Given the description of an element on the screen output the (x, y) to click on. 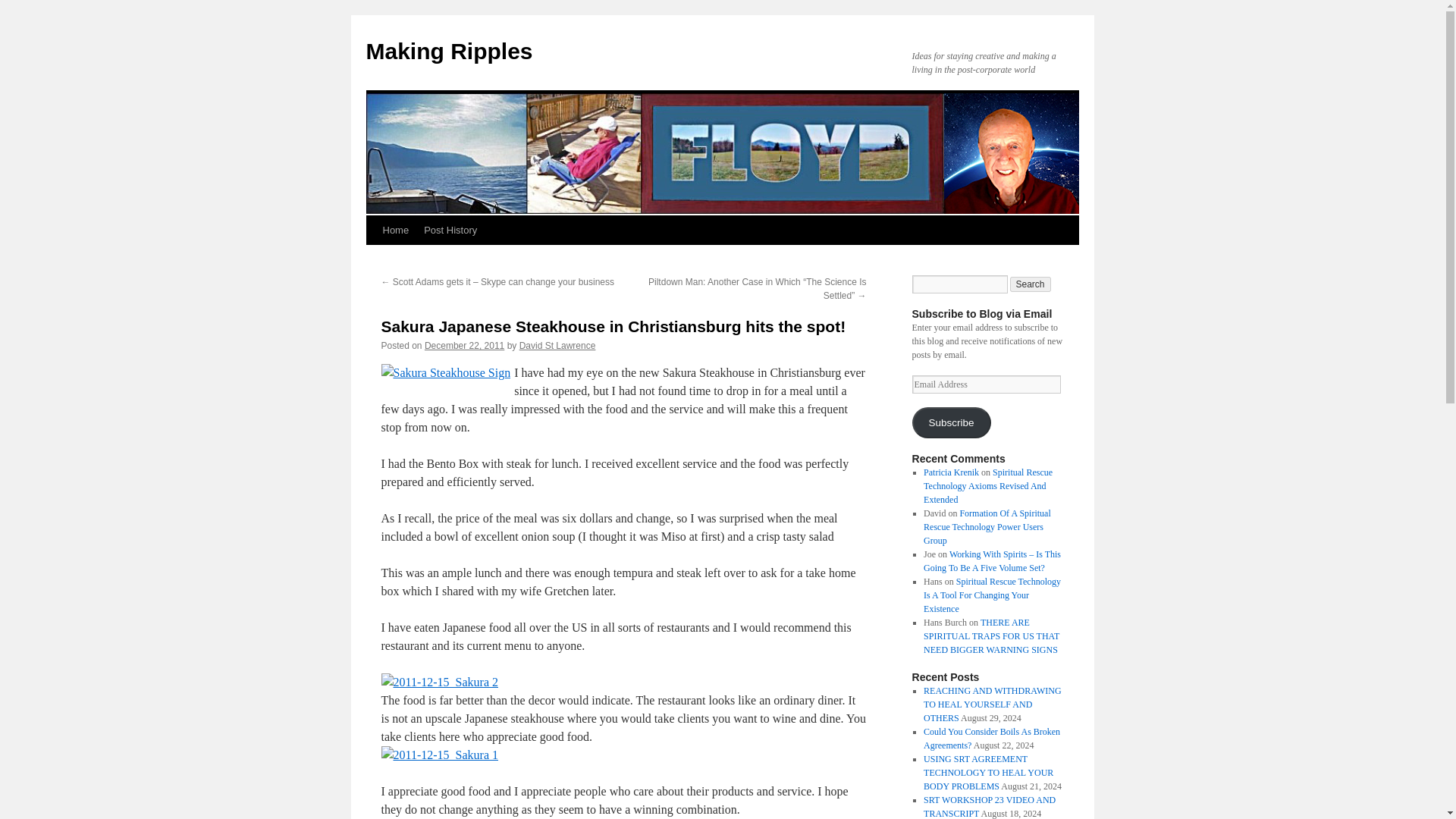
Subscribe (950, 422)
Spiritual Rescue Technology Axioms Revised And Extended (987, 485)
Search (1030, 283)
Making Ripples (448, 50)
Could You Consider Boils As Broken Agreements? (991, 738)
USING SRT AGREEMENT TECHNOLOGY TO HEAL YOUR BODY PROBLEMS (987, 772)
REACHING AND WITHDRAWING TO HEAL YOURSELF AND OTHERS (992, 704)
Making Ripples (448, 50)
December 22, 2011 (464, 345)
